Given the description of an element on the screen output the (x, y) to click on. 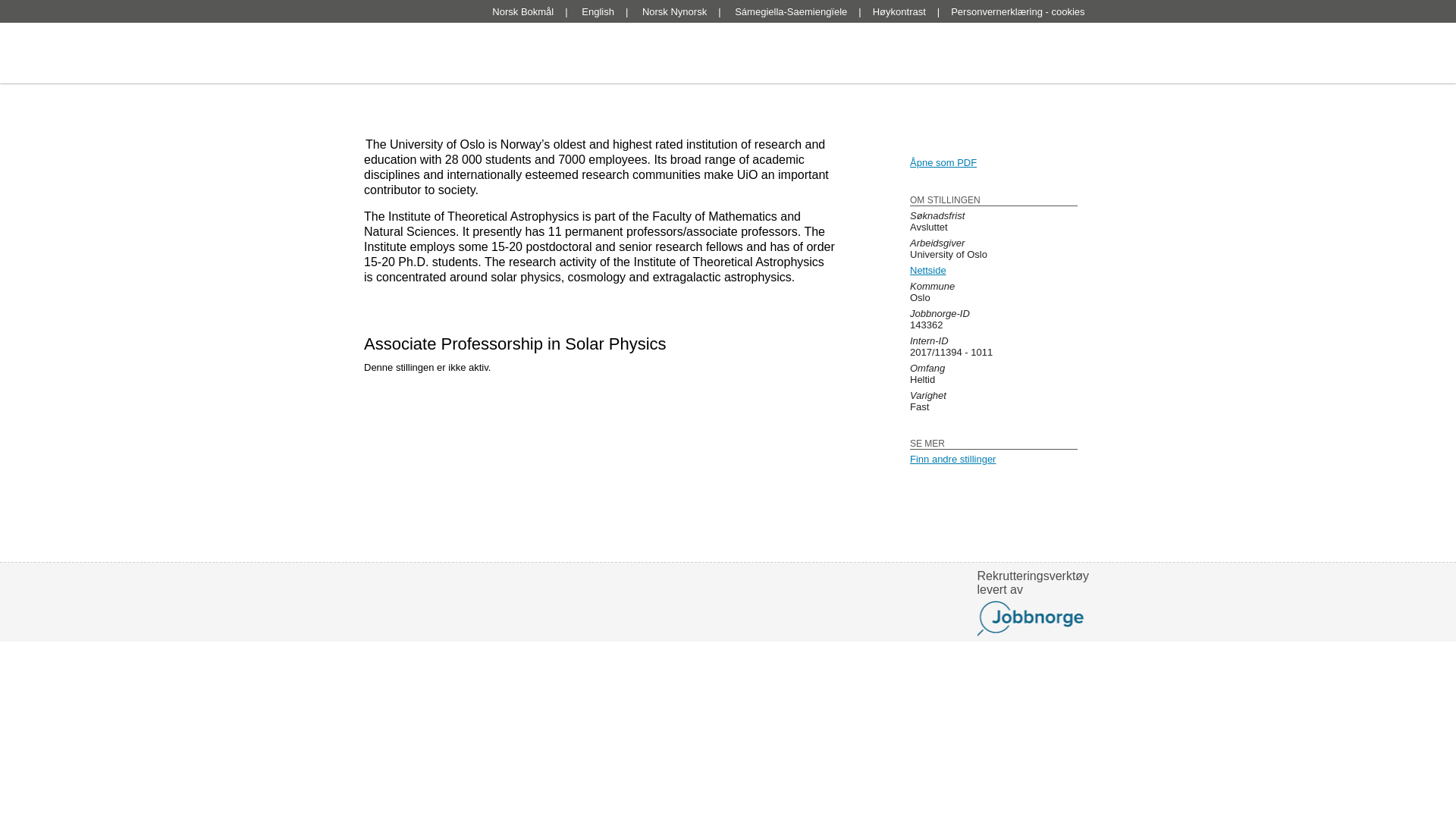
Norsk Nynorsk (674, 11)
Finn andre stillinger (952, 459)
English (597, 11)
Nettside (928, 270)
